Given the description of an element on the screen output the (x, y) to click on. 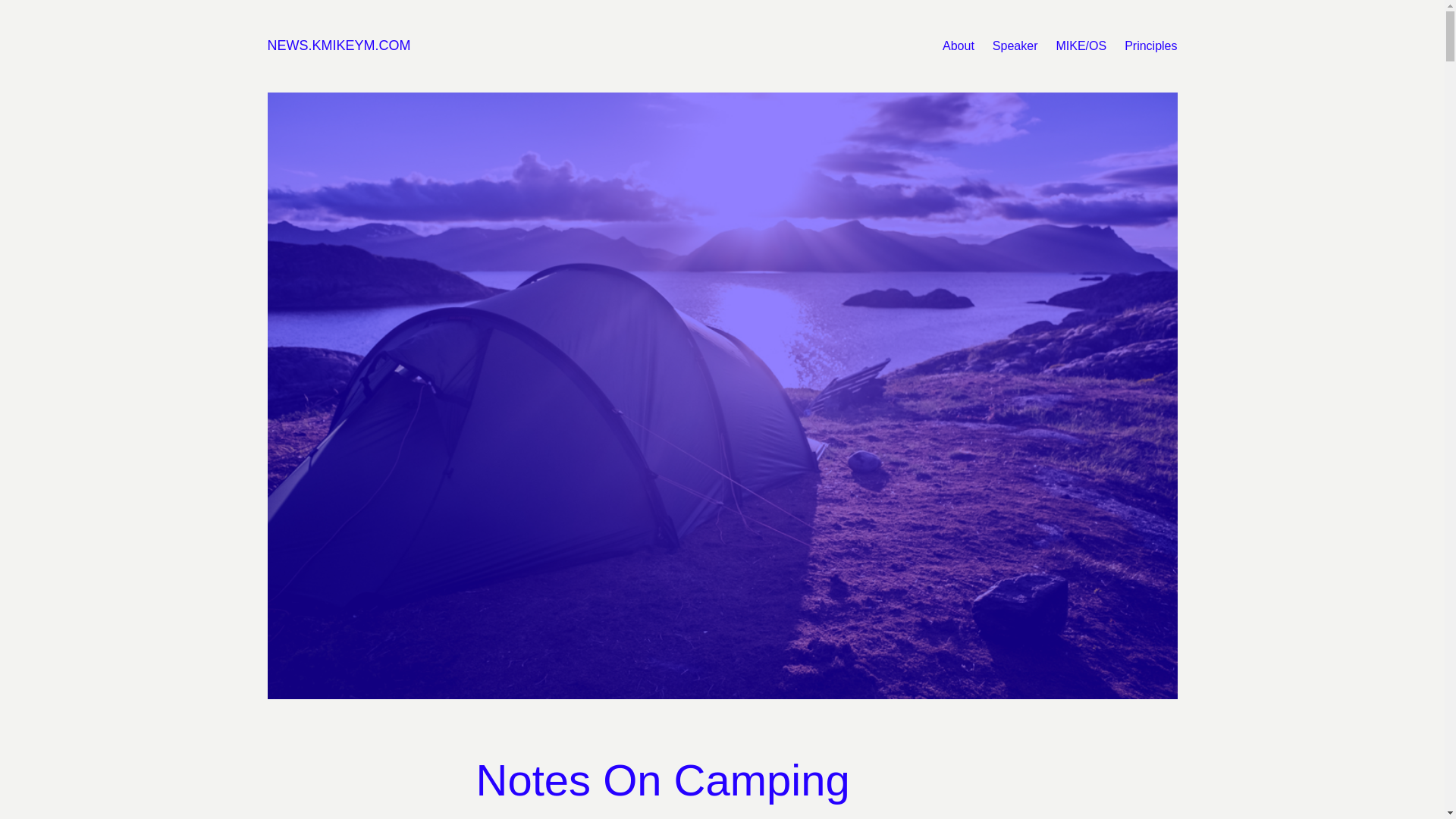
Principles (1150, 46)
Speaker (1015, 46)
About (958, 46)
NEWS.KMIKEYM.COM (338, 45)
